Given the description of an element on the screen output the (x, y) to click on. 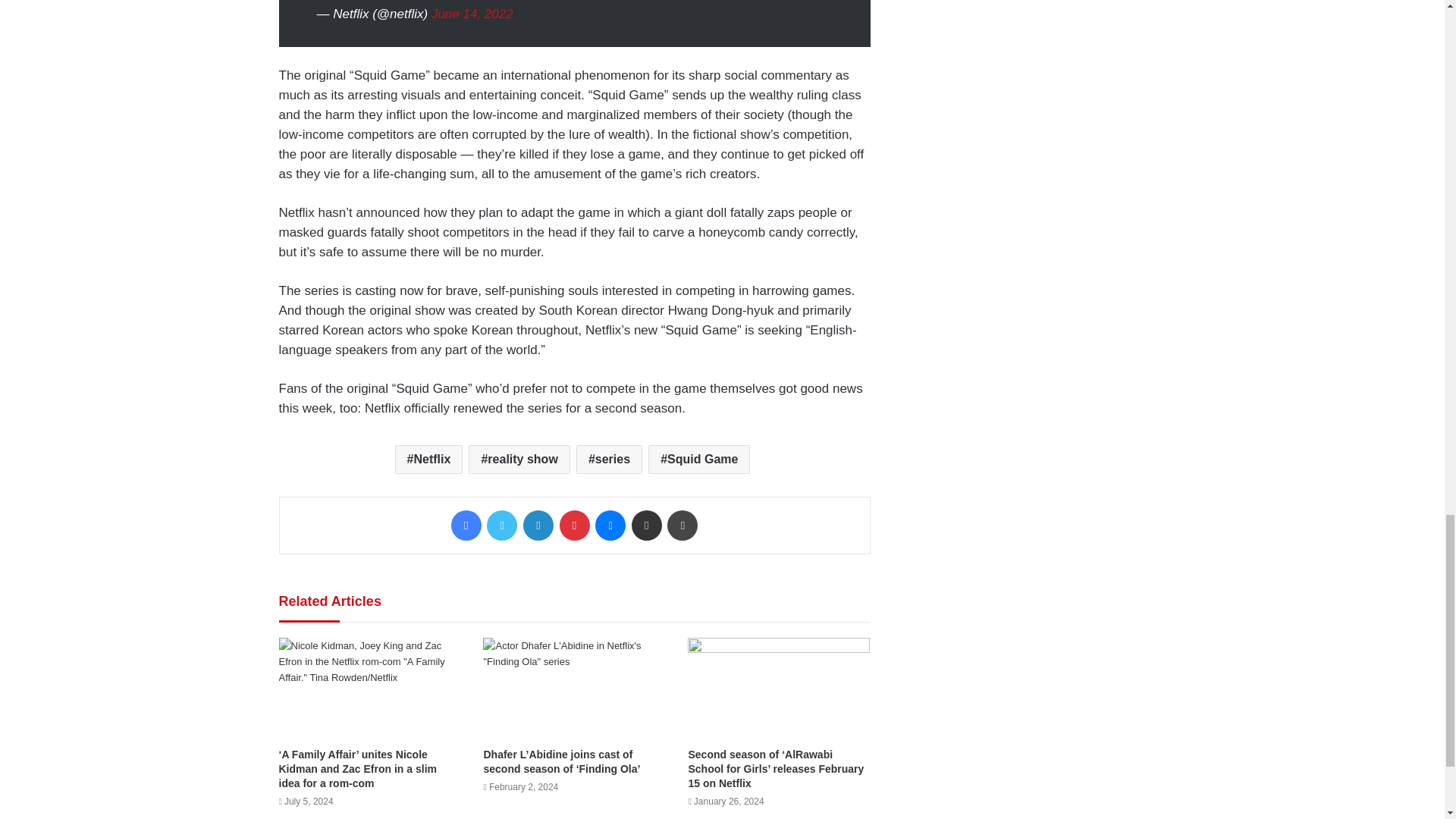
LinkedIn (537, 525)
Twitter (501, 525)
June 14, 2022 (471, 13)
Facebook (466, 525)
Pinterest (574, 525)
Netflix (428, 459)
reality show (518, 459)
Pinterest (574, 525)
Messenger (610, 525)
Facebook (466, 525)
Squid Game (698, 459)
Share via Email (646, 525)
series (609, 459)
Twitter (501, 525)
LinkedIn (537, 525)
